Given the description of an element on the screen output the (x, y) to click on. 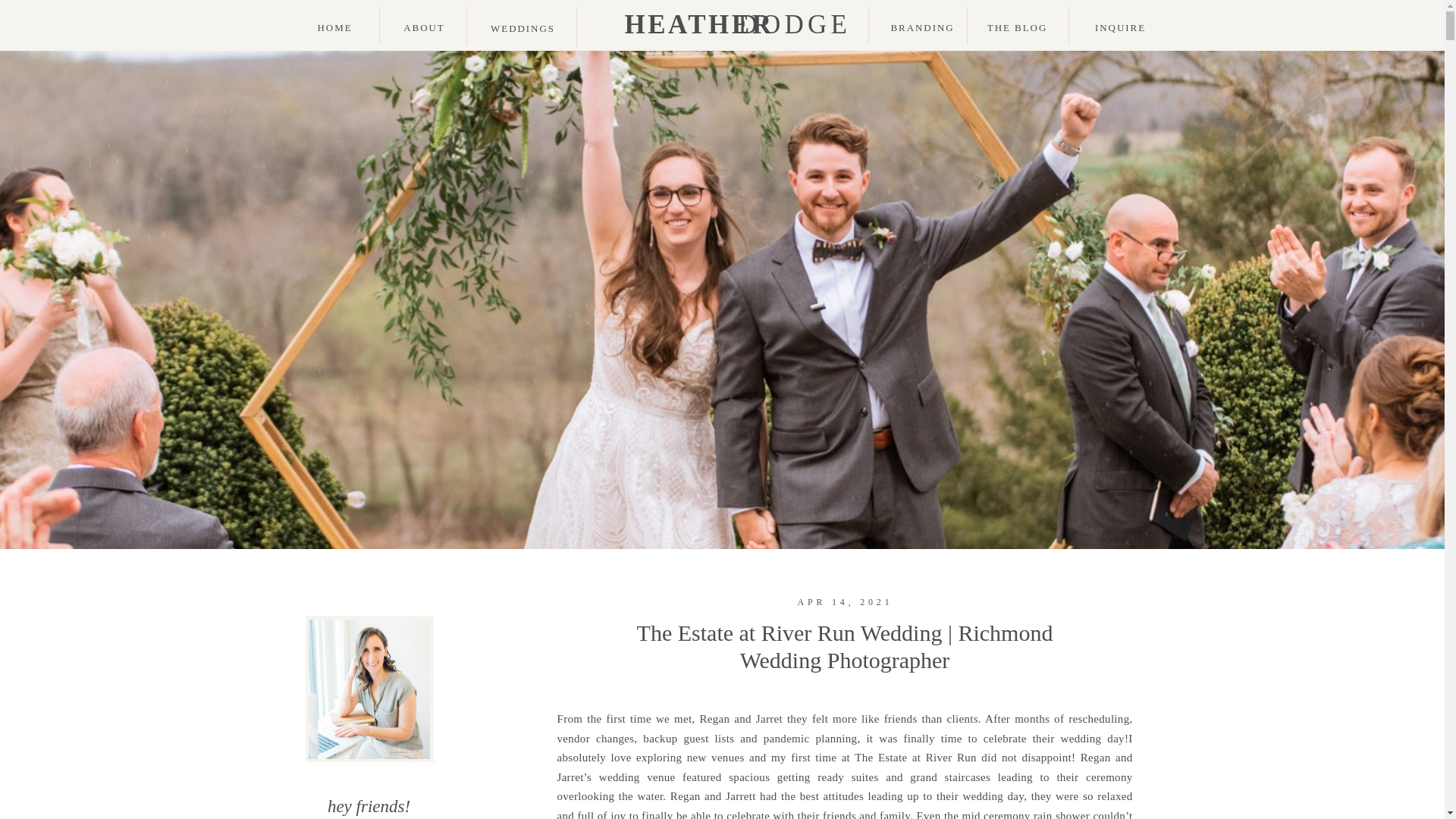
ABOUT (424, 30)
BRANDING (921, 30)
THE BLOG (1017, 29)
HEATHER (681, 25)
HOME (334, 29)
DODGE (781, 25)
INQUIRE (1120, 29)
WEDDINGS (523, 29)
